Given the description of an element on the screen output the (x, y) to click on. 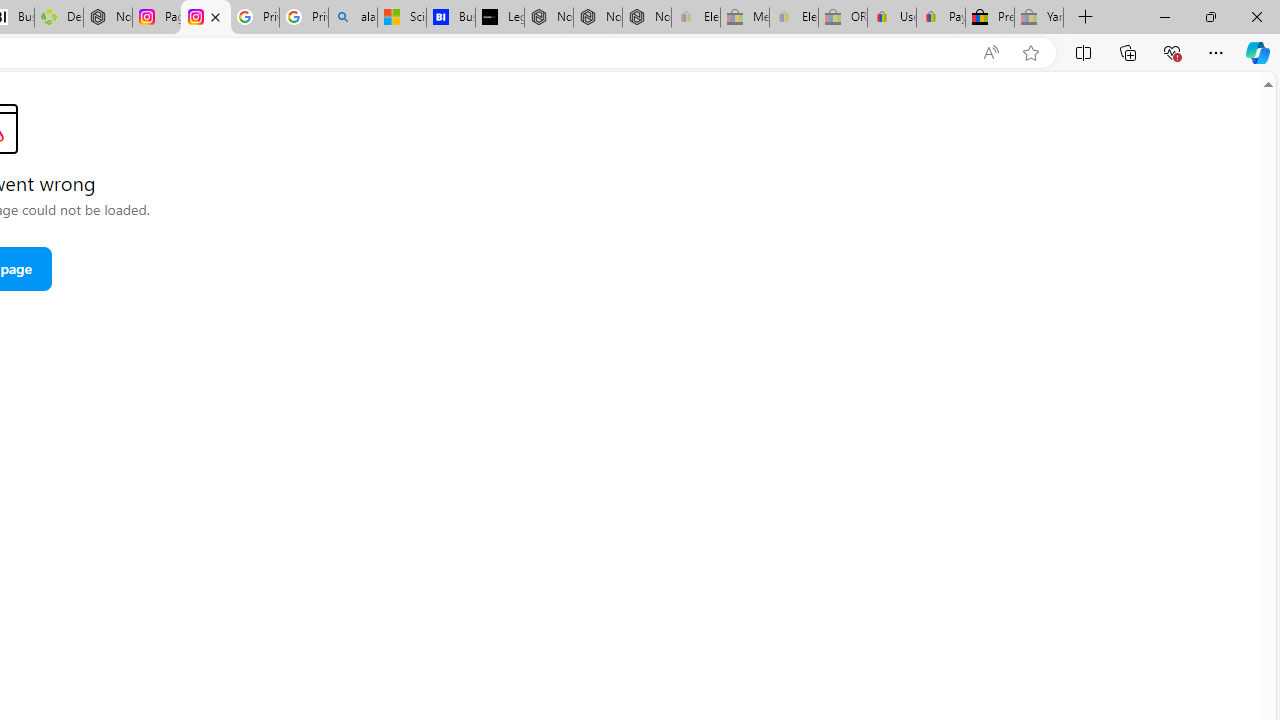
Press Room - eBay Inc. (989, 17)
User Privacy Notice | eBay (891, 17)
